Given the description of an element on the screen output the (x, y) to click on. 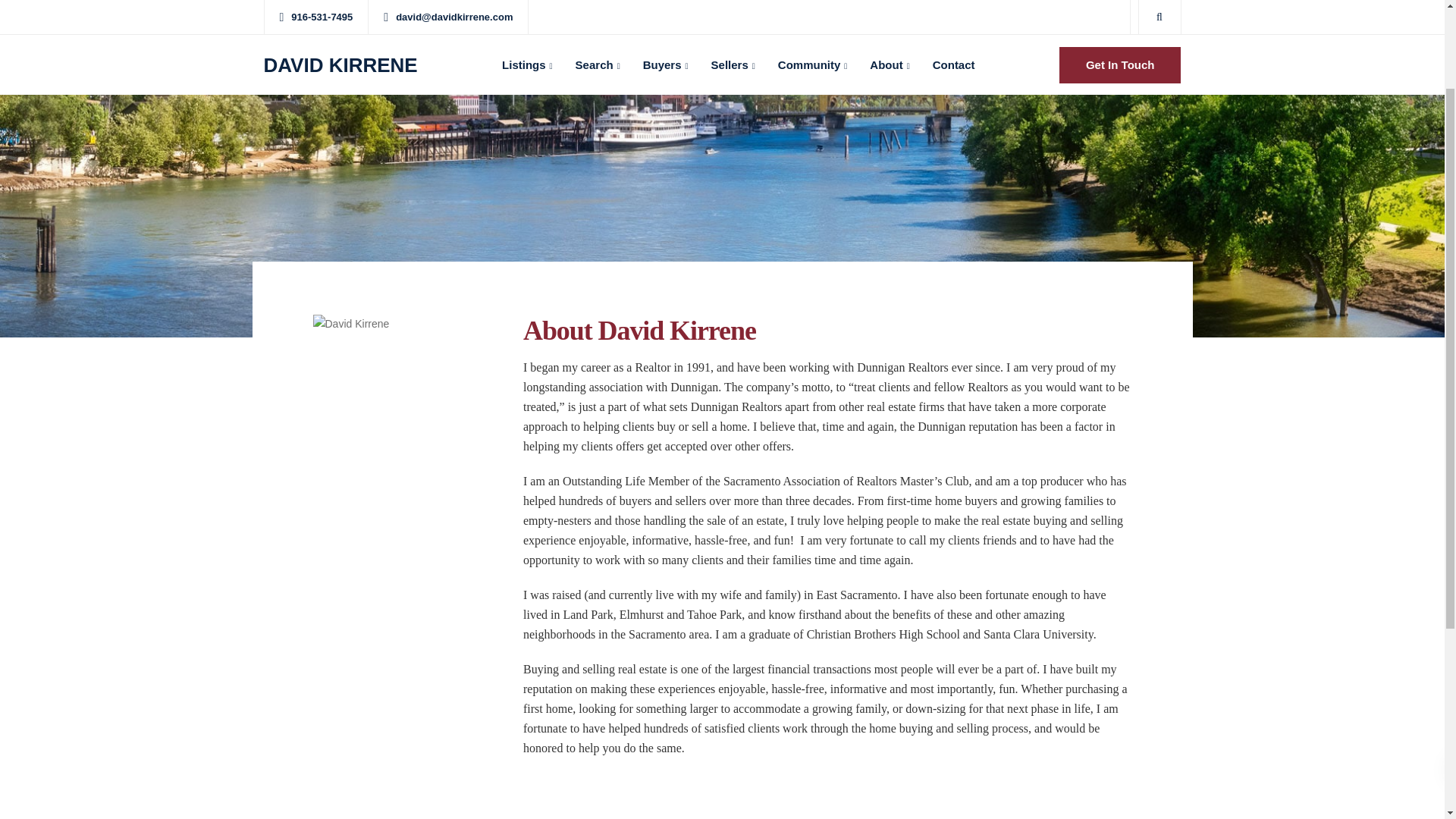
BUYERS (434, 463)
LISTINGS (288, 463)
SEARCH (362, 463)
COMMUNITY (591, 463)
SELLERS (506, 463)
